Given the description of an element on the screen output the (x, y) to click on. 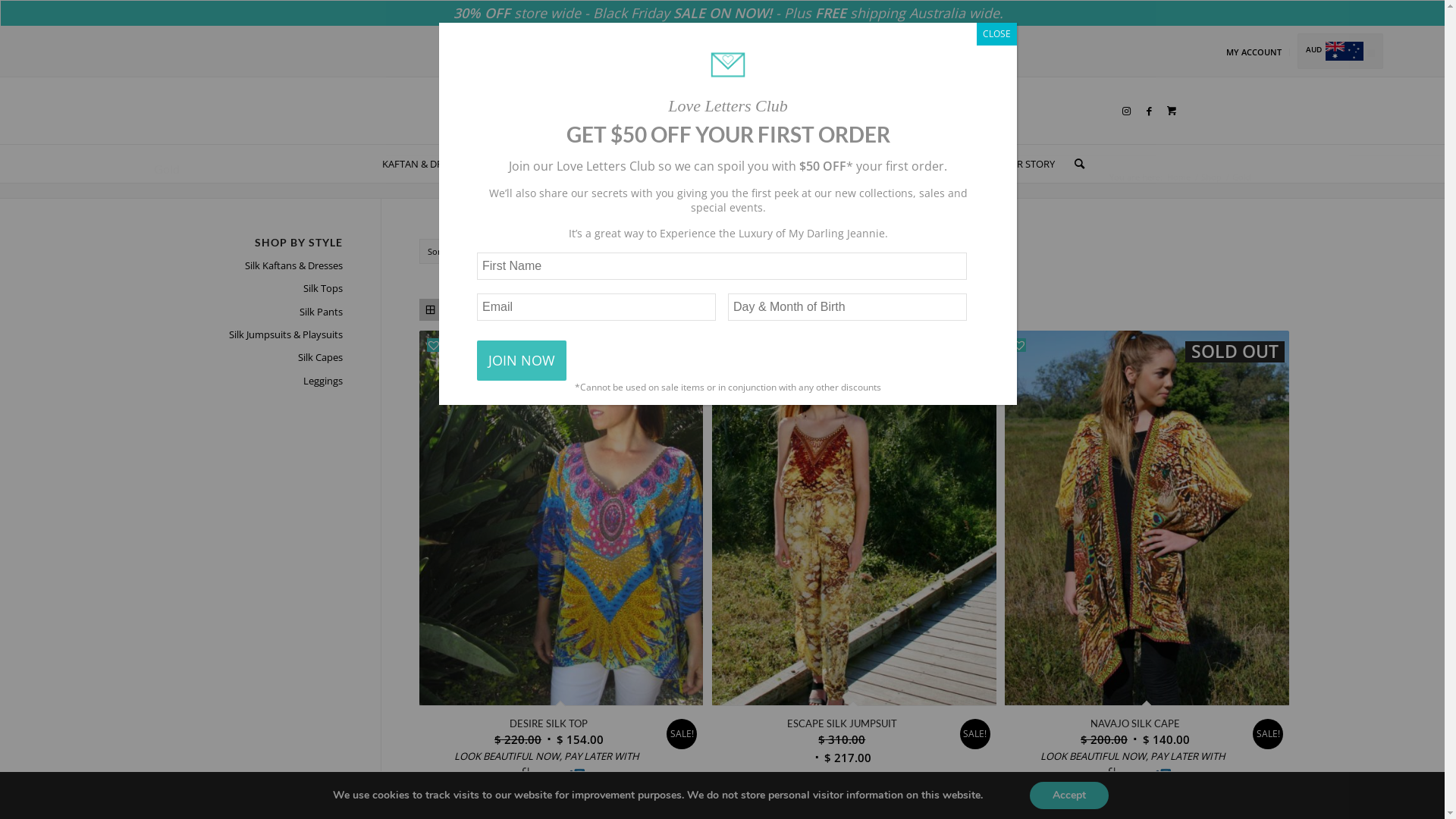
ESCAPE SILK JUMPSUIT
$ 310.00
$ 217.00
SALE! Element type: text (841, 740)
Silk Tops Element type: text (247, 288)
Accept Element type: text (1068, 795)
OUR STORY Element type: text (1022, 163)
JUMPSUITS & PLAYSUITS Element type: text (631, 163)
Shop Element type: text (1210, 176)
PANTS Element type: text (542, 163)
JOIN NOW Element type: text (521, 360)
LOOK BEAUTIFUL NOW, PAY LATER WITH   Element type: text (549, 756)
TOPS Element type: text (495, 163)
List view Element type: hover (452, 309)
LOOK BEAUTIFUL NOW, PAY LATER WITH   Element type: text (1134, 756)
NAVAJO SILK CAPE
$ 200.00 $ 140.00
SALE! Element type: text (1134, 730)
LEGGINGS Element type: text (778, 163)
GIFT VOUCHERS Element type: text (939, 163)
Facebook Element type: hover (1148, 110)
Instagram Element type: hover (1125, 110)
Silk Kaftans & Dresses Element type: text (247, 265)
Leggings Element type: text (247, 381)
Grid view Element type: hover (429, 309)
LOOK BEAUTIFUL NOW, PAY LATER WITH   Element type: text (841, 775)
DESIRE SILK TOP
$ 220.00 $ 154.00
SALE! Element type: text (549, 730)
Silk Jumpsuits & Playsuits Element type: text (247, 334)
Silk Capes Element type: text (247, 357)
AUD Element type: text (1329, 51)
CAPES Element type: text (720, 163)
SOLD OUT Element type: text (1146, 517)
Silk Pants Element type: text (247, 312)
KAFTAN & DRESSES Element type: text (419, 163)
ACCESSORIES Element type: text (852, 163)
MY ACCOUNT Element type: text (1242, 51)
Home Element type: text (1178, 176)
CLOSE Element type: text (996, 33)
